Given the description of an element on the screen output the (x, y) to click on. 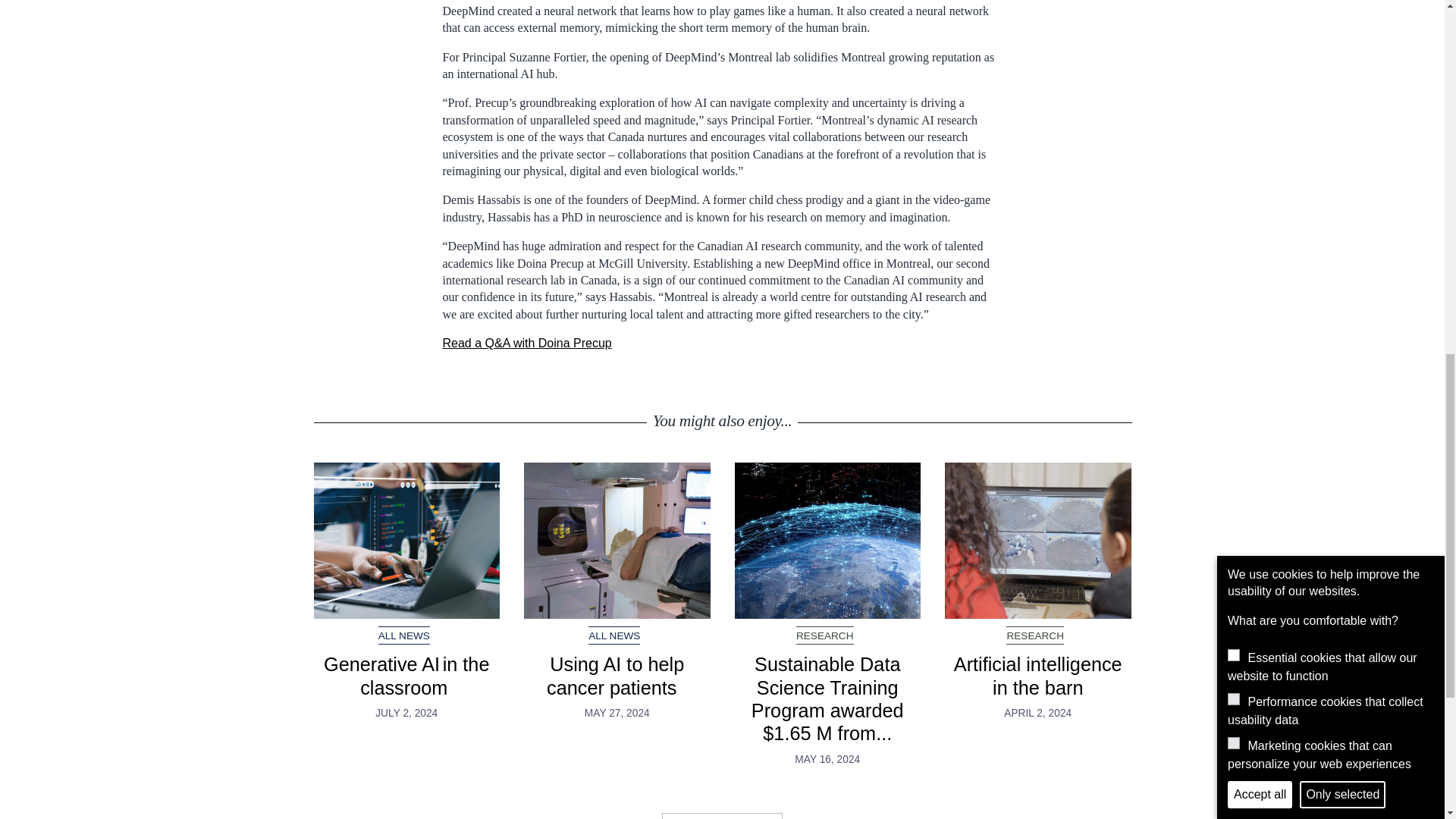
Using AI to help cancer patients   (617, 675)
RESEARCH (1035, 635)
ALL NEWS (614, 635)
Artificial intelligence in the barn (1037, 540)
RESEARCH (824, 635)
ALL NEWS (403, 635)
Artificial intelligence in the barn (1037, 675)
Load more (722, 816)
